Given the description of an element on the screen output the (x, y) to click on. 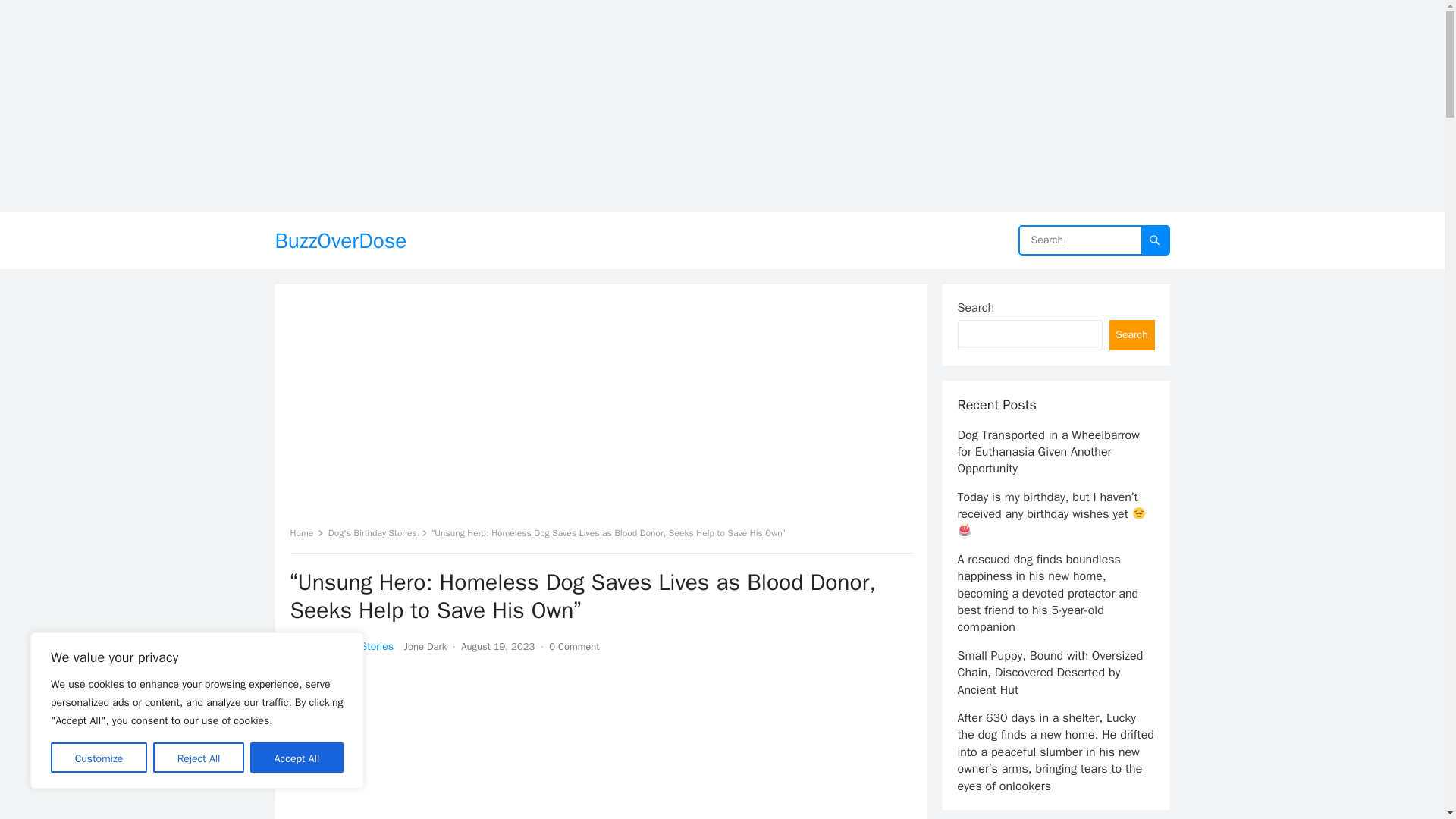
Accept All (296, 757)
0 Comment (573, 645)
Advertisement (600, 411)
Advertisement (600, 744)
Reject All (198, 757)
Posts by Jone Dark (425, 645)
Customize (98, 757)
Jone Dark (425, 645)
Dog's Birthday Stories (341, 645)
Home (306, 532)
BuzzOverDose (340, 240)
Dog's Birthday Stories (378, 532)
